Given the description of an element on the screen output the (x, y) to click on. 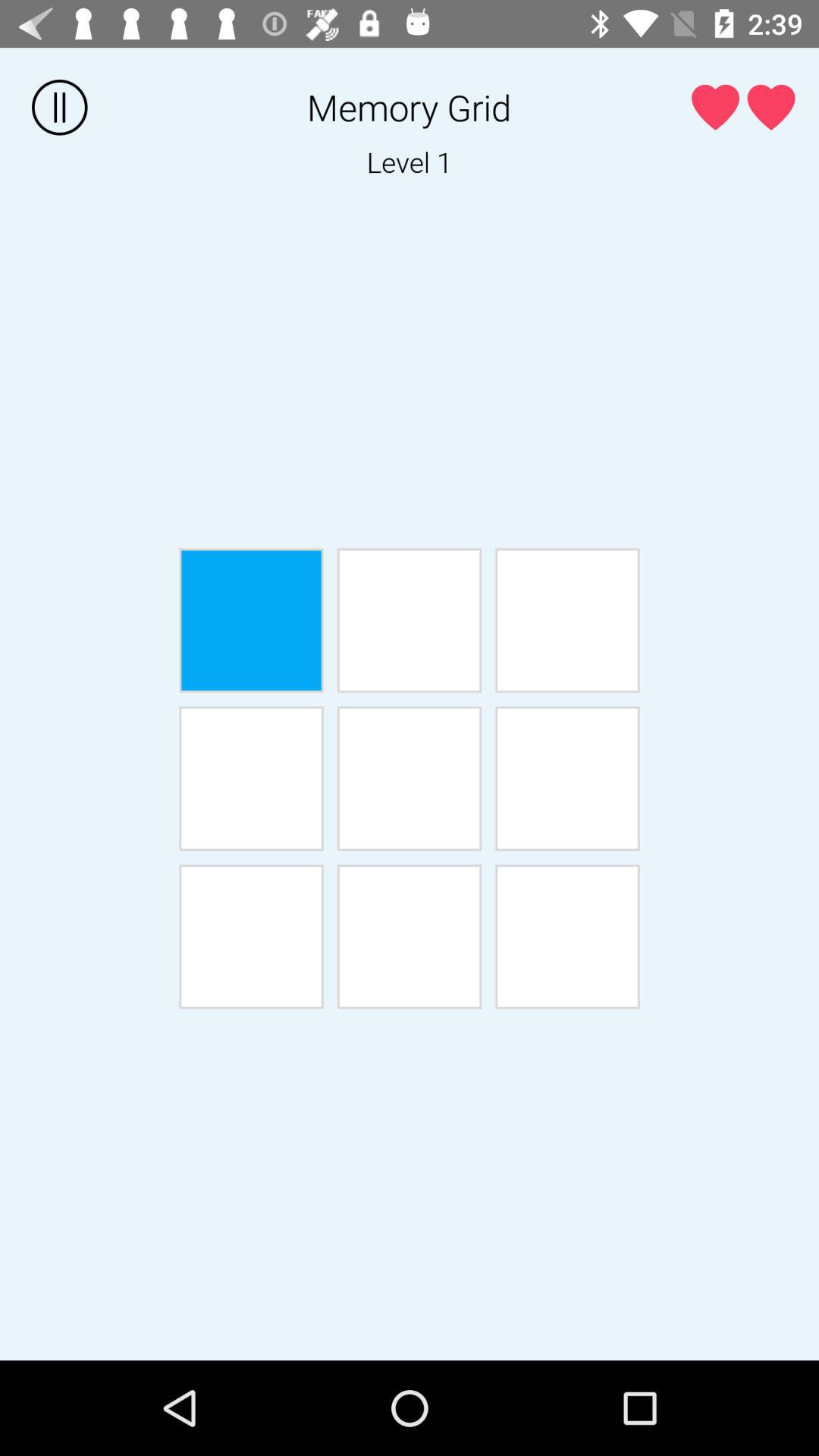
select middle left square (251, 778)
